Given the description of an element on the screen output the (x, y) to click on. 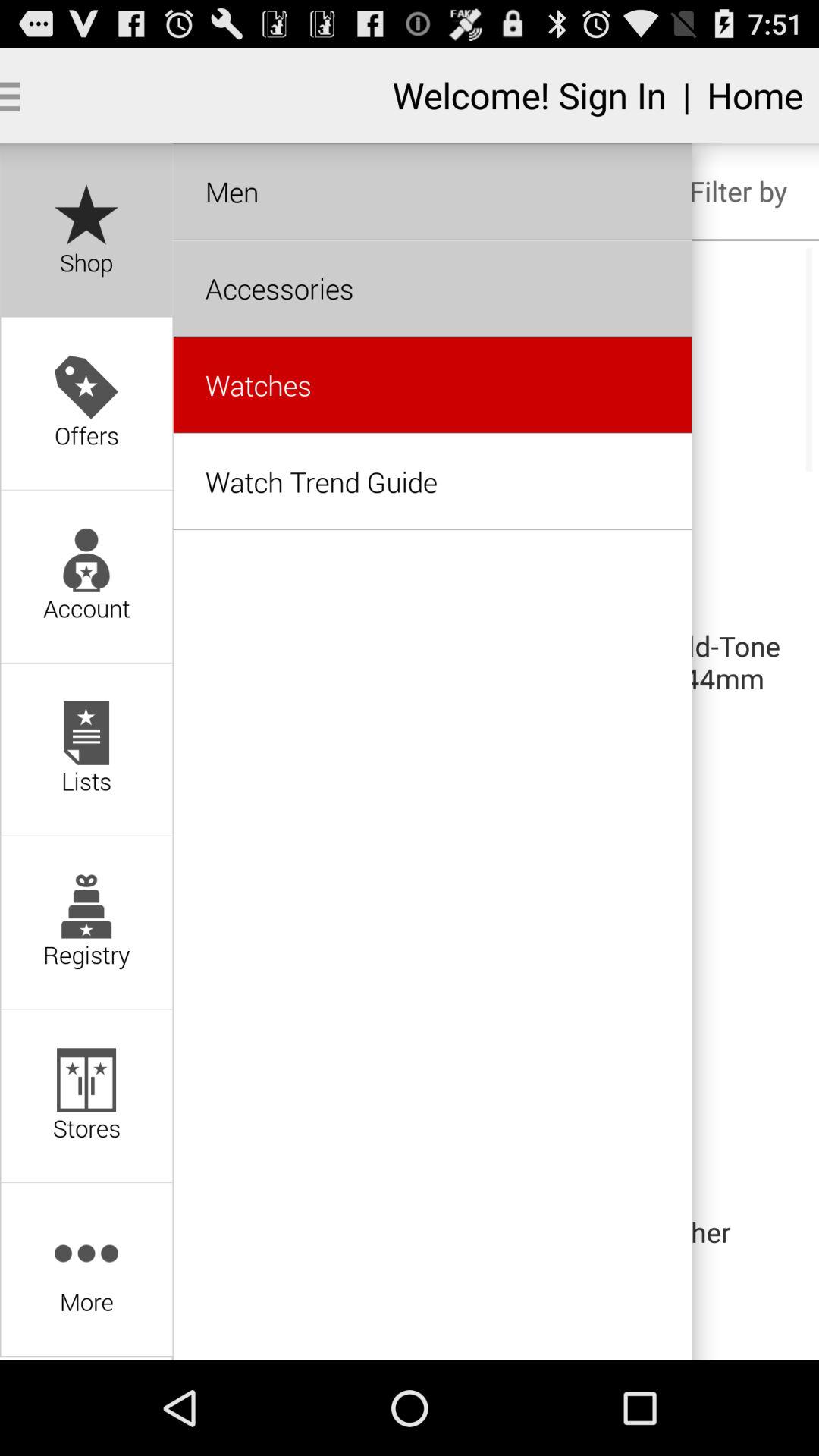
select the option stores (86, 1096)
